Given the description of an element on the screen output the (x, y) to click on. 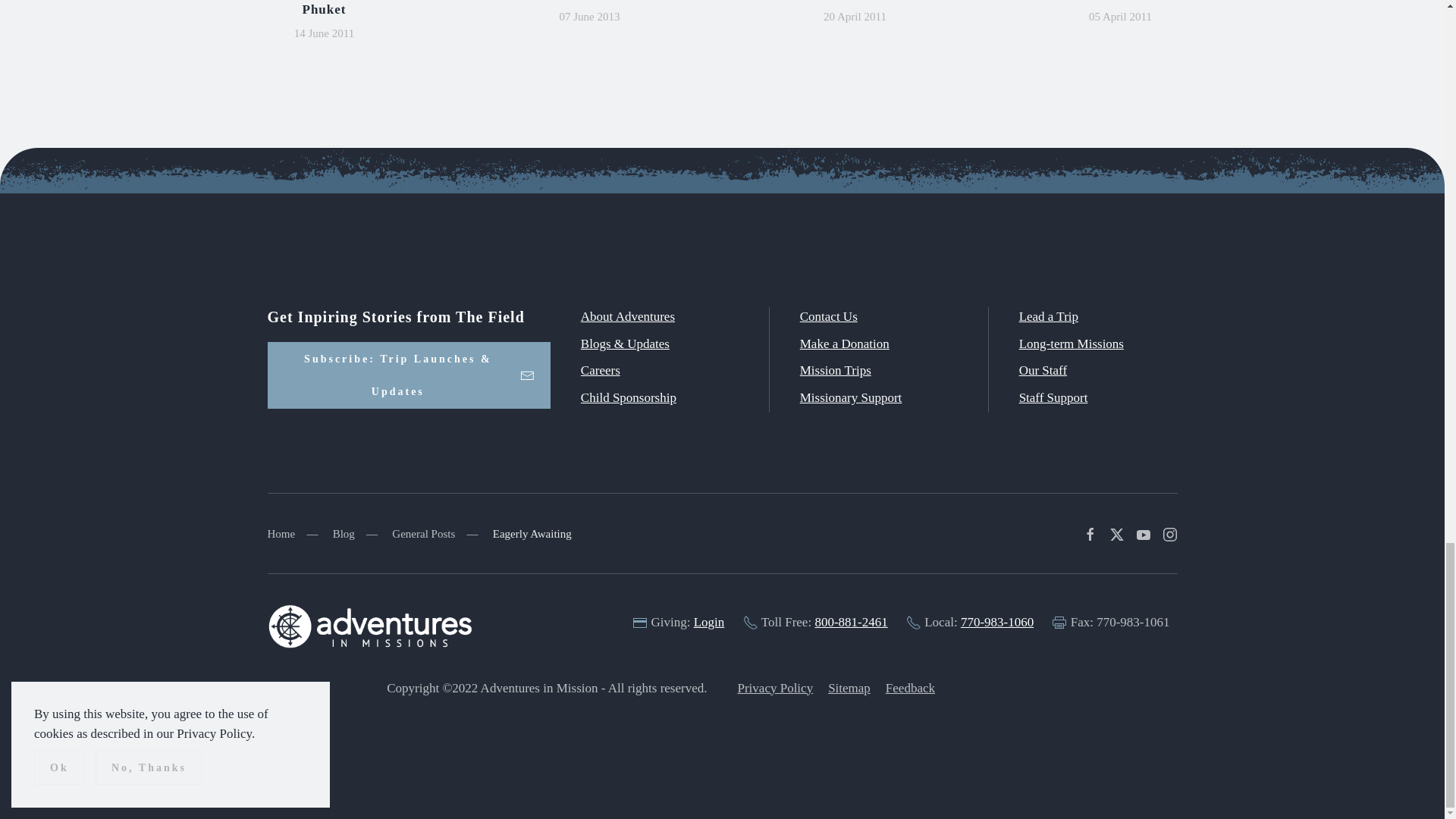
Careers (600, 370)
About Adventures (627, 316)
Top 10 Things to Bring With You to Phuket (322, 8)
